Given the description of an element on the screen output the (x, y) to click on. 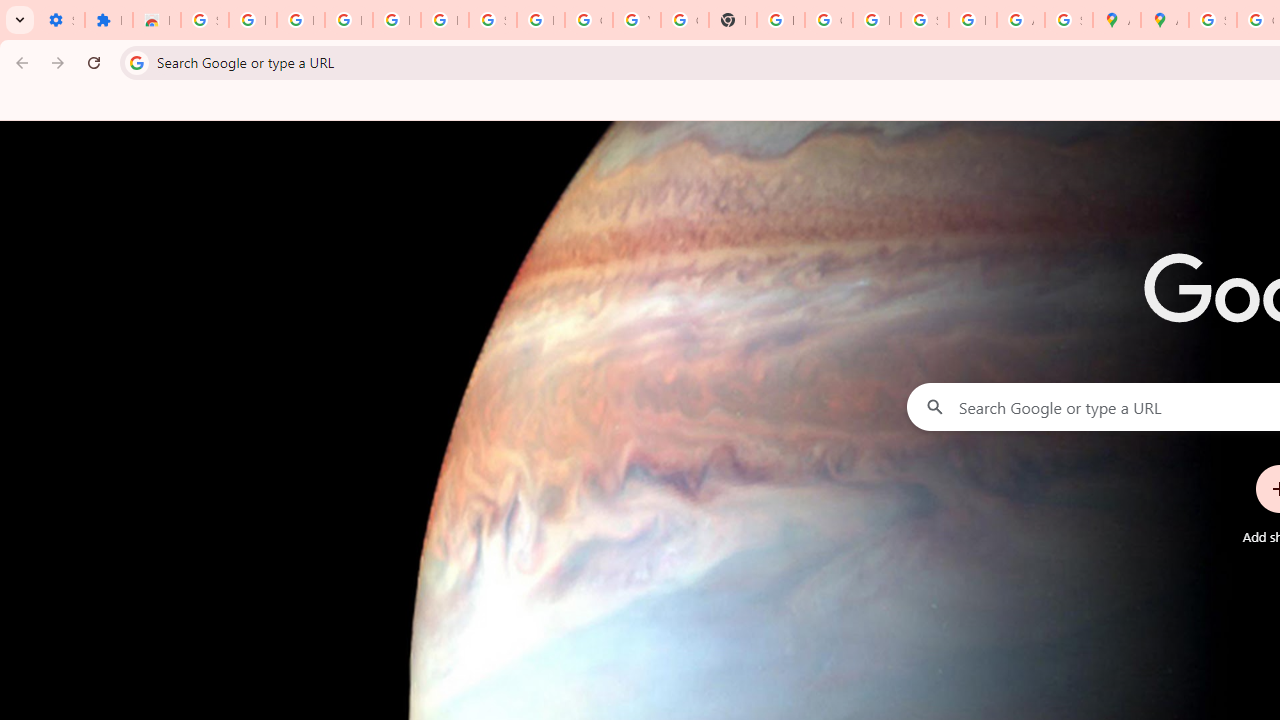
Google Account (588, 20)
Learn how to find your photos - Google Photos Help (396, 20)
Reviews: Helix Fruit Jump Arcade Game (156, 20)
Sign in - Google Accounts (492, 20)
https://scholar.google.com/ (780, 20)
Delete photos & videos - Computer - Google Photos Help (348, 20)
Sign in - Google Accounts (204, 20)
